Given the description of an element on the screen output the (x, y) to click on. 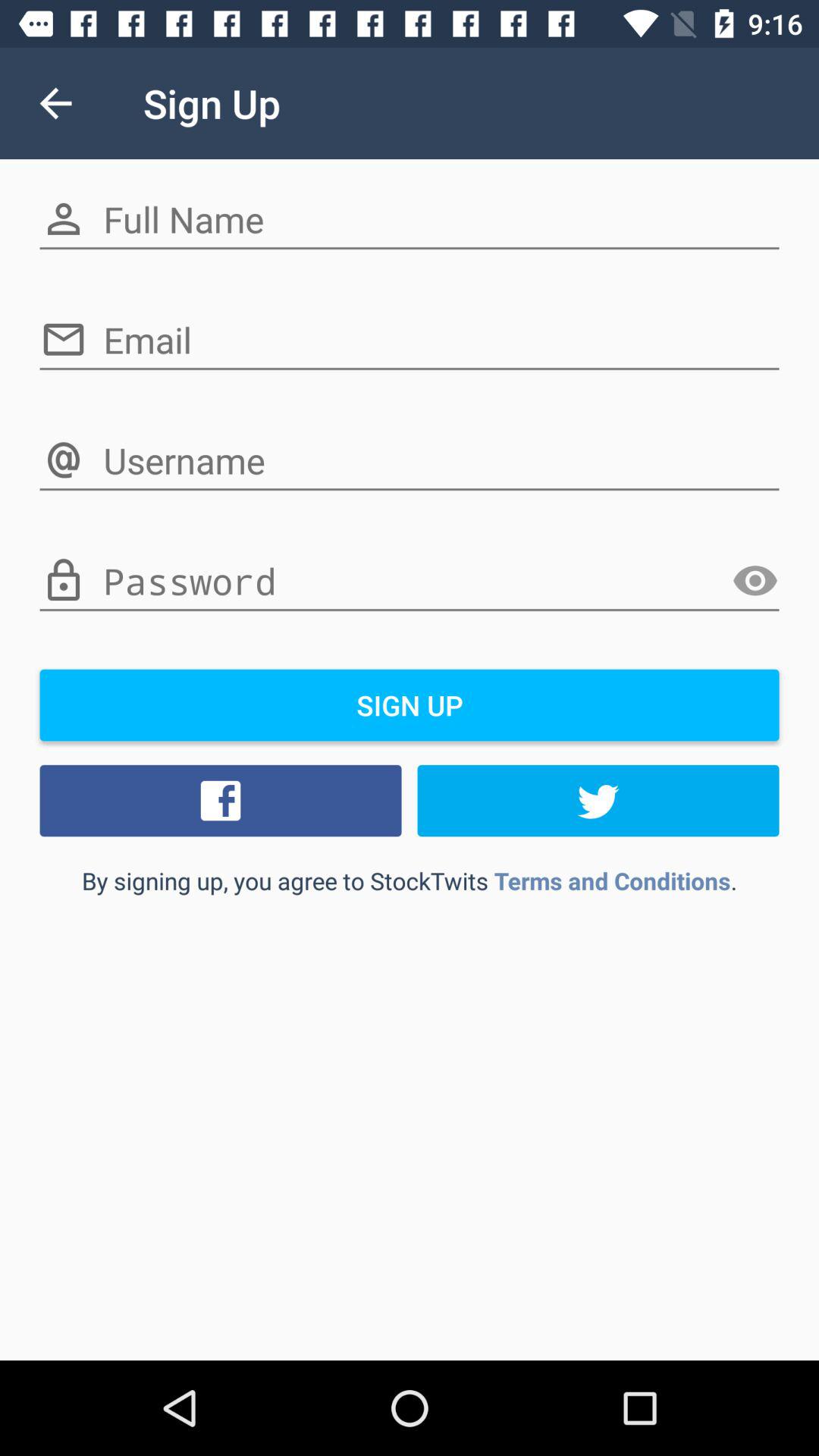
turn on icon on the left (220, 800)
